Given the description of an element on the screen output the (x, y) to click on. 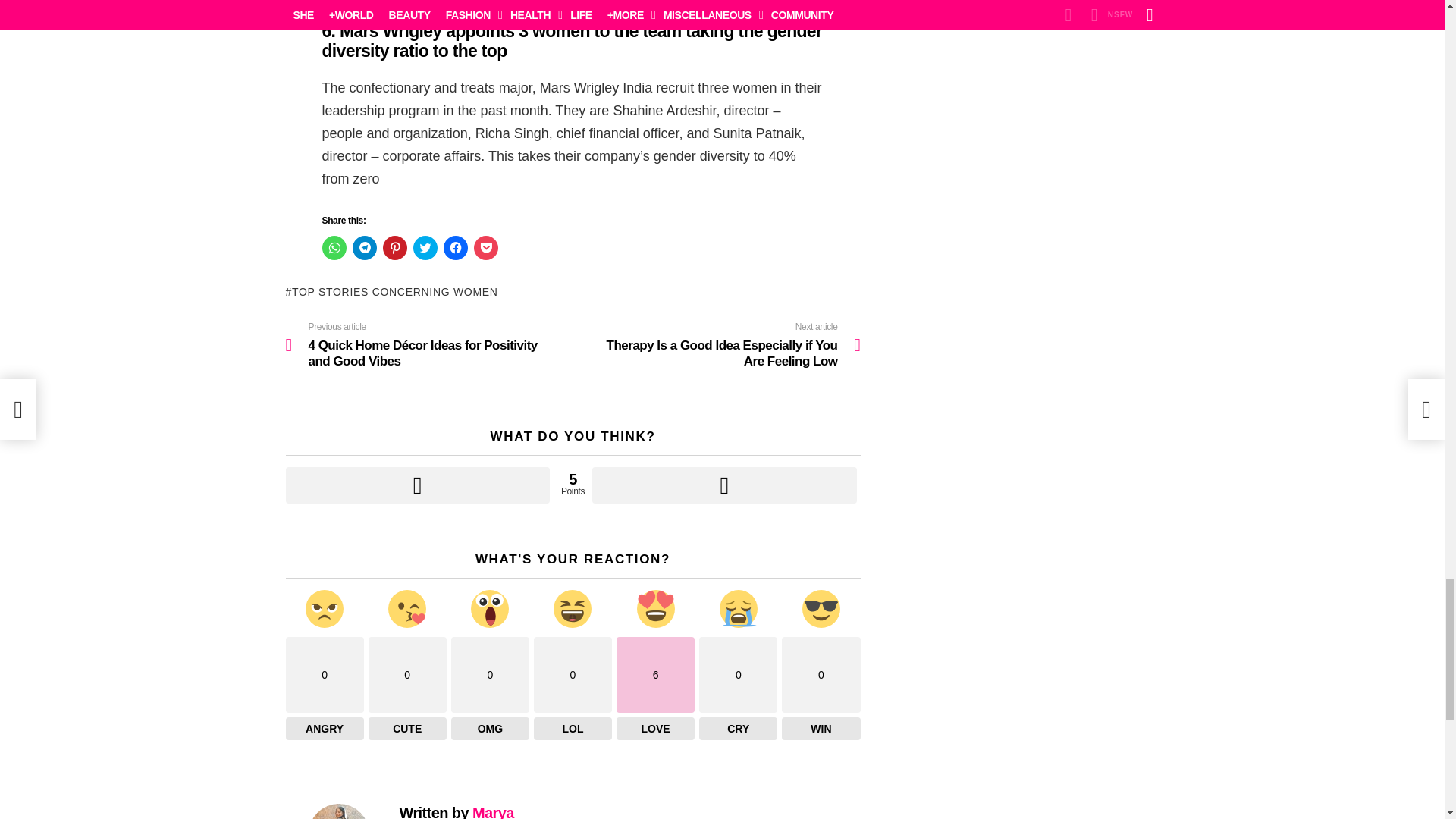
Click to share on Telegram (363, 247)
Click to share on Pinterest (393, 247)
Click to share on WhatsApp (333, 247)
